Given the description of an element on the screen output the (x, y) to click on. 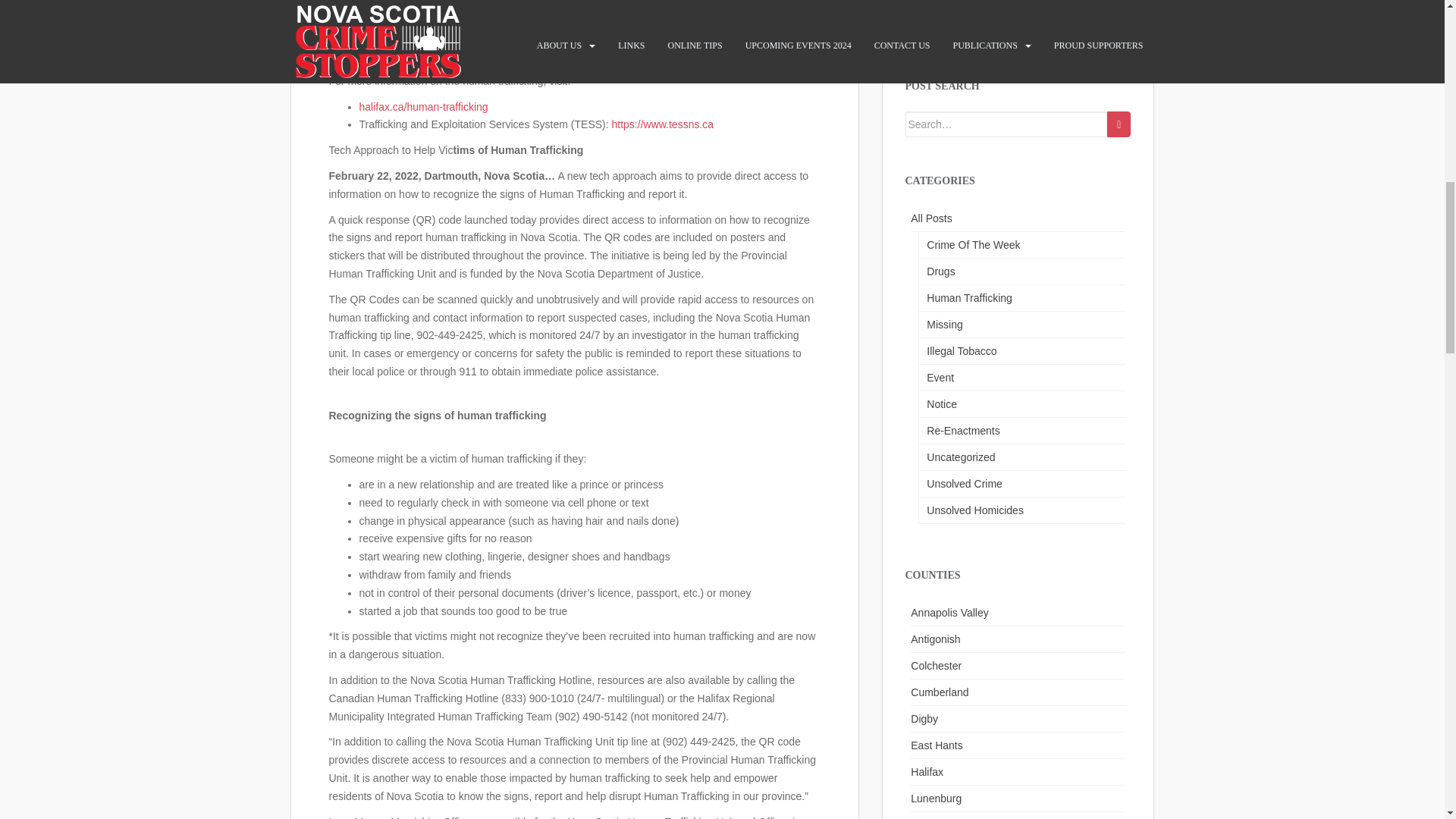
All Posts (1017, 218)
Printable Donation Form (962, 24)
Search for: (1006, 124)
Human Trafficking (1021, 298)
Search (1118, 124)
Crime Of The Week (1021, 244)
Drugs (1021, 271)
